Given the description of an element on the screen output the (x, y) to click on. 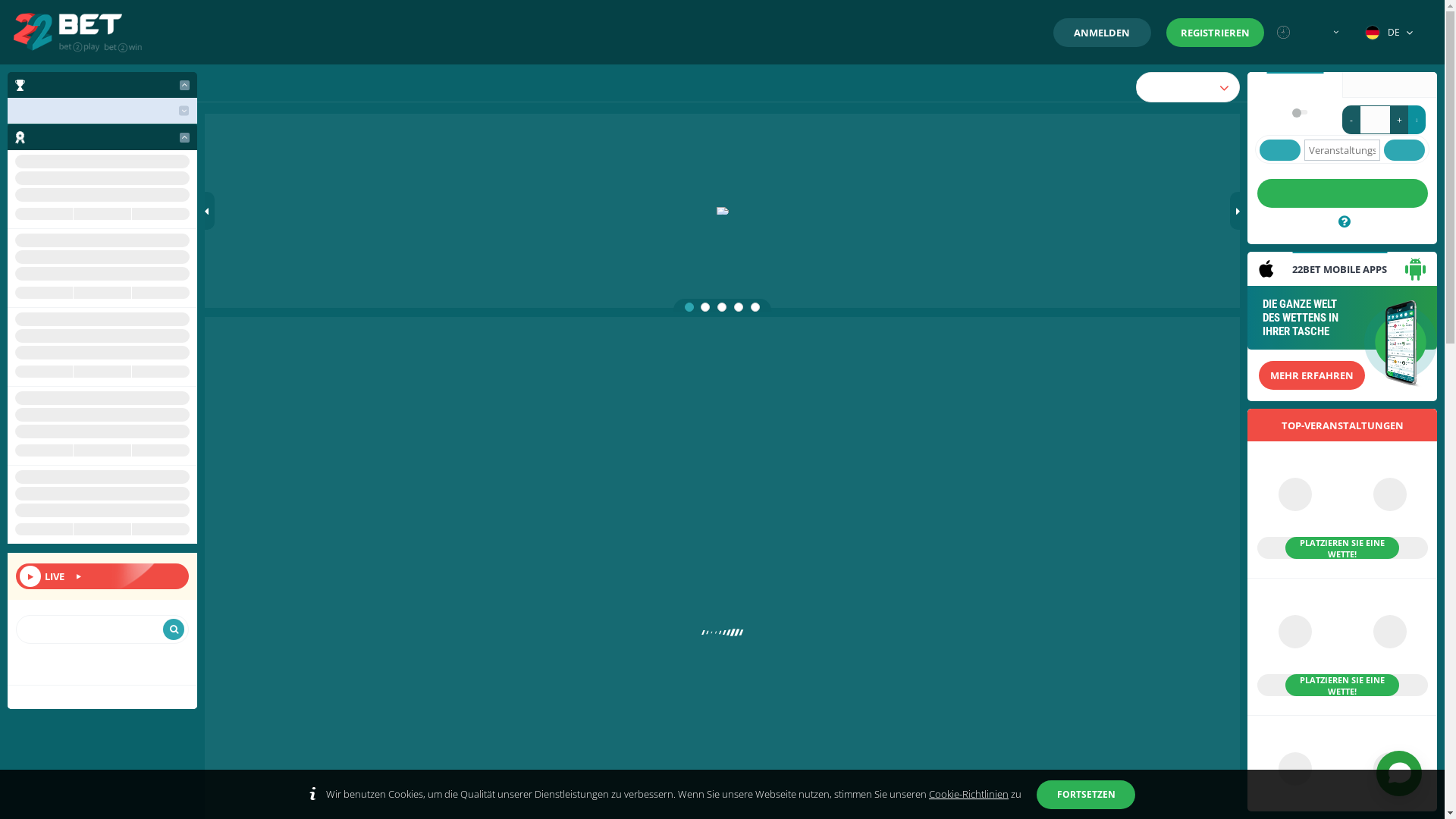
Cookie-Richtlinien Element type: text (968, 793)
MEHR ERFAHREN Element type: text (1311, 374)
PLATZIEREN SIE EINE WETTE! Element type: text (1342, 646)
PLATZIEREN SIE EINE WETTE! Element type: text (1342, 509)
REGISTRIEREN Element type: text (1215, 32)
LIVE Element type: text (101, 576)
